Given the description of an element on the screen output the (x, y) to click on. 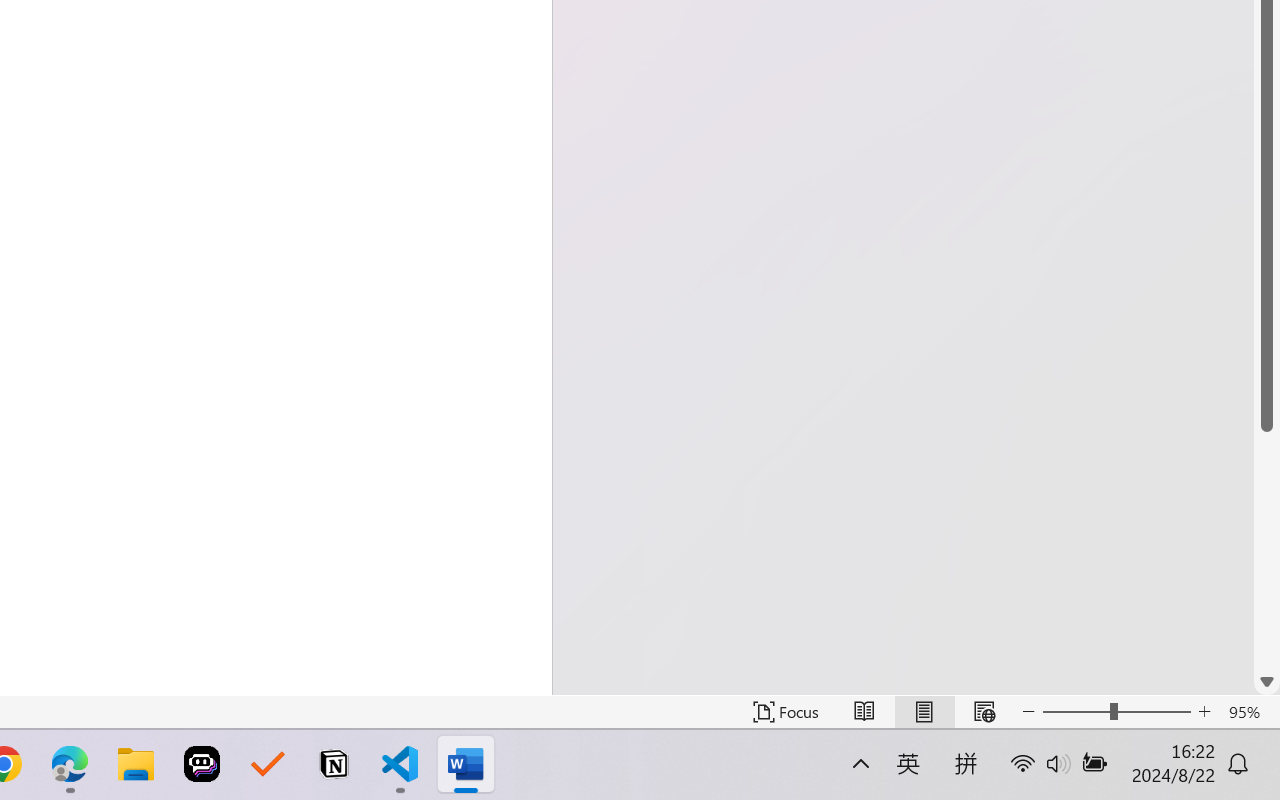
Zoom 95% (1249, 712)
Line down (1267, 681)
Page down (1267, 550)
